Given the description of an element on the screen output the (x, y) to click on. 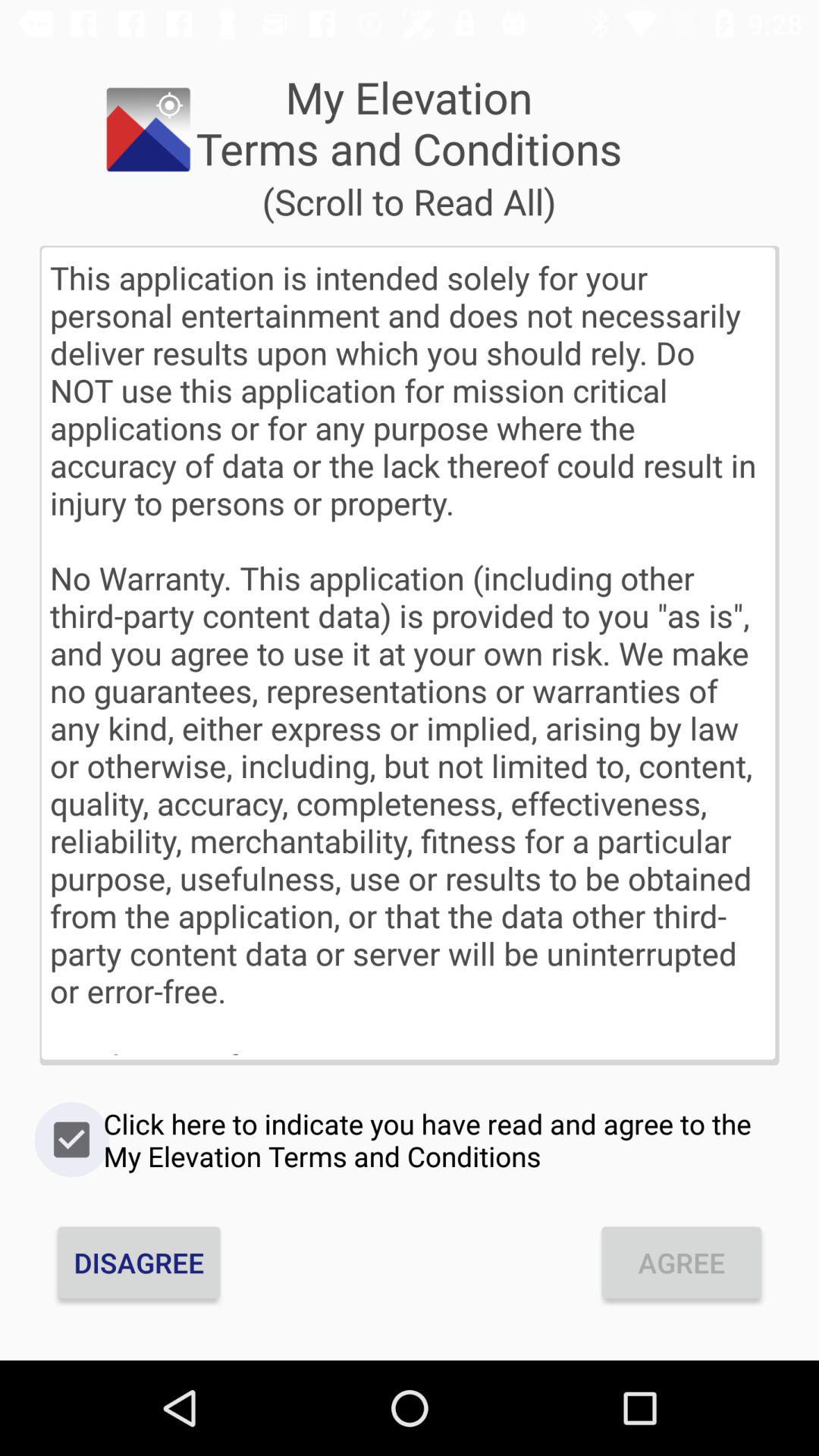
scroll to the disagree icon (139, 1262)
